Given the description of an element on the screen output the (x, y) to click on. 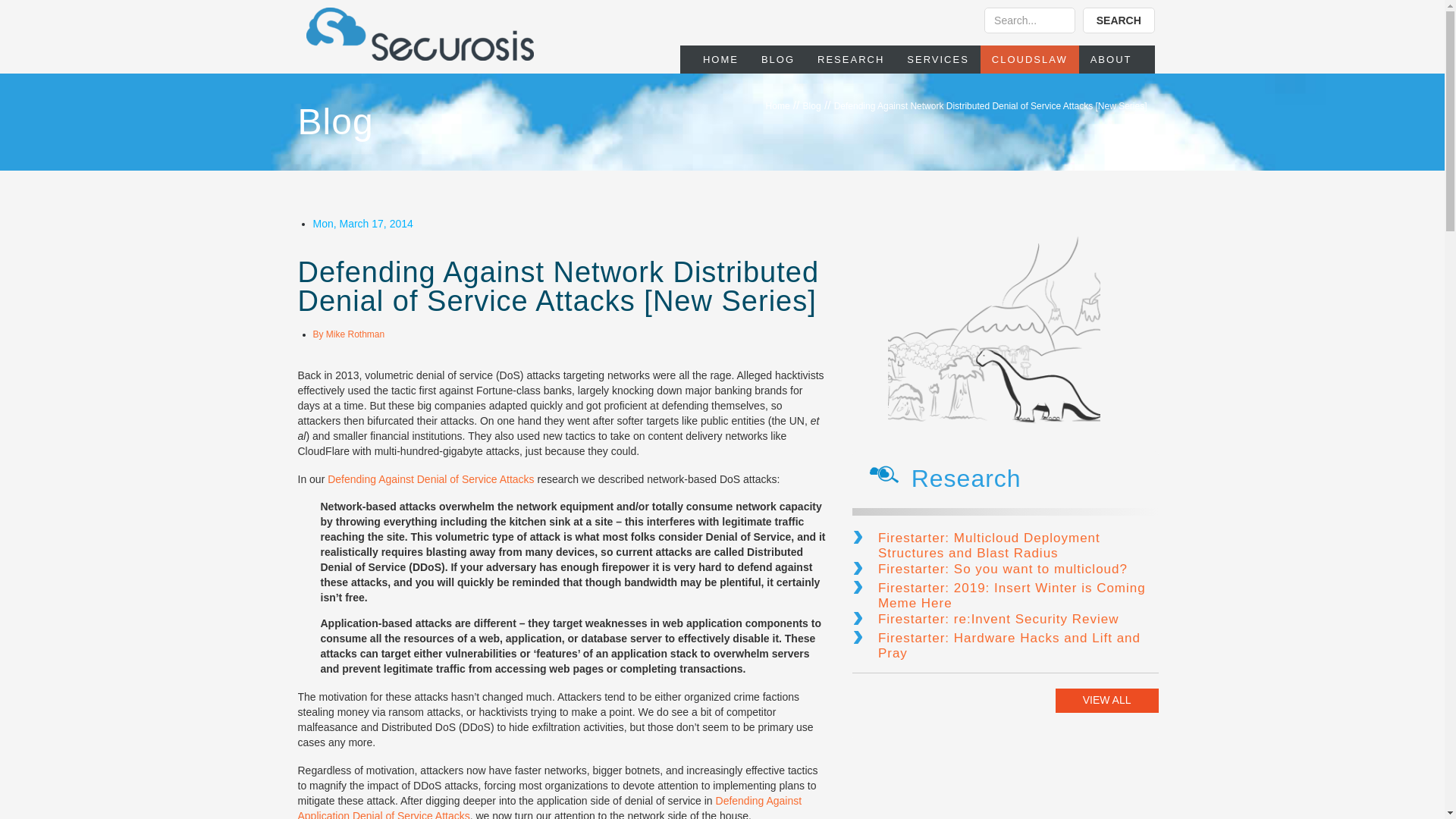
BLOG (777, 59)
Search (1029, 20)
Mon, March 17, 2014 (362, 223)
Firestarter: re:Invent Security Review (1004, 620)
ABOUT (1110, 59)
Search (1118, 20)
Defending Against Application Denial of Service Attacks (549, 806)
Firestarter: Hardware Hacks and Lift and Pray (1004, 645)
Home (777, 105)
By Mike Rothman (348, 334)
Firestarter: So you want to multicloud? (1004, 570)
SEARCH (1118, 20)
CLOUDSLAW (1028, 59)
Firestarter: 2019: Insert Winter is Coming Meme Here (1004, 595)
